Given the description of an element on the screen output the (x, y) to click on. 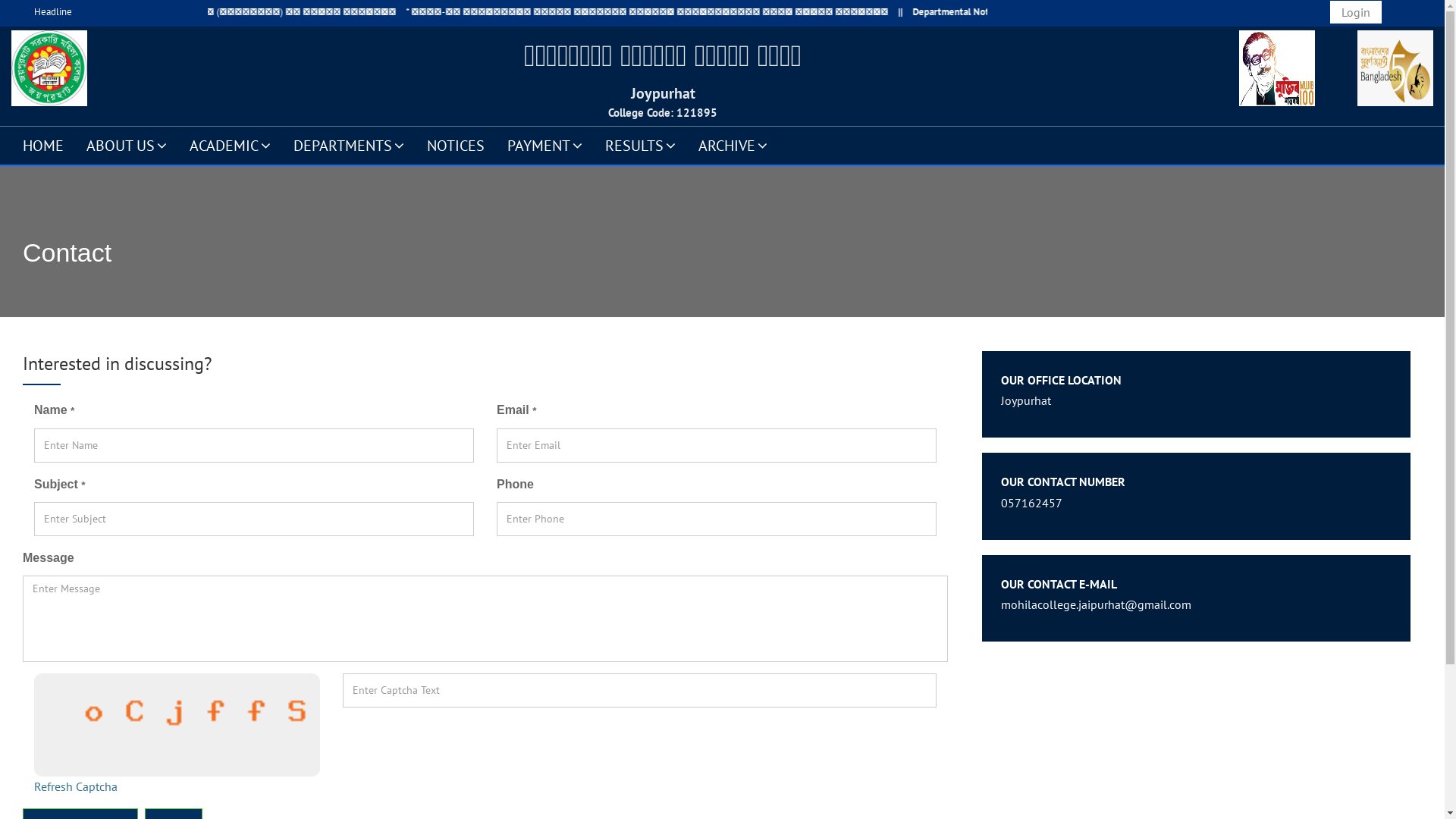
ABOUT US Element type: text (126, 144)
RESULTS Element type: text (640, 144)
DEPARTMENTS Element type: text (348, 144)
Refresh Captcha Element type: text (75, 785)
ARCHIVE Element type: text (732, 144)
Login Element type: text (1355, 11)
PAYMENT Element type: text (544, 144)
ACADEMIC Element type: text (230, 144)
HOME Element type: text (43, 144)
NOTICES Element type: text (455, 144)
